Given the description of an element on the screen output the (x, y) to click on. 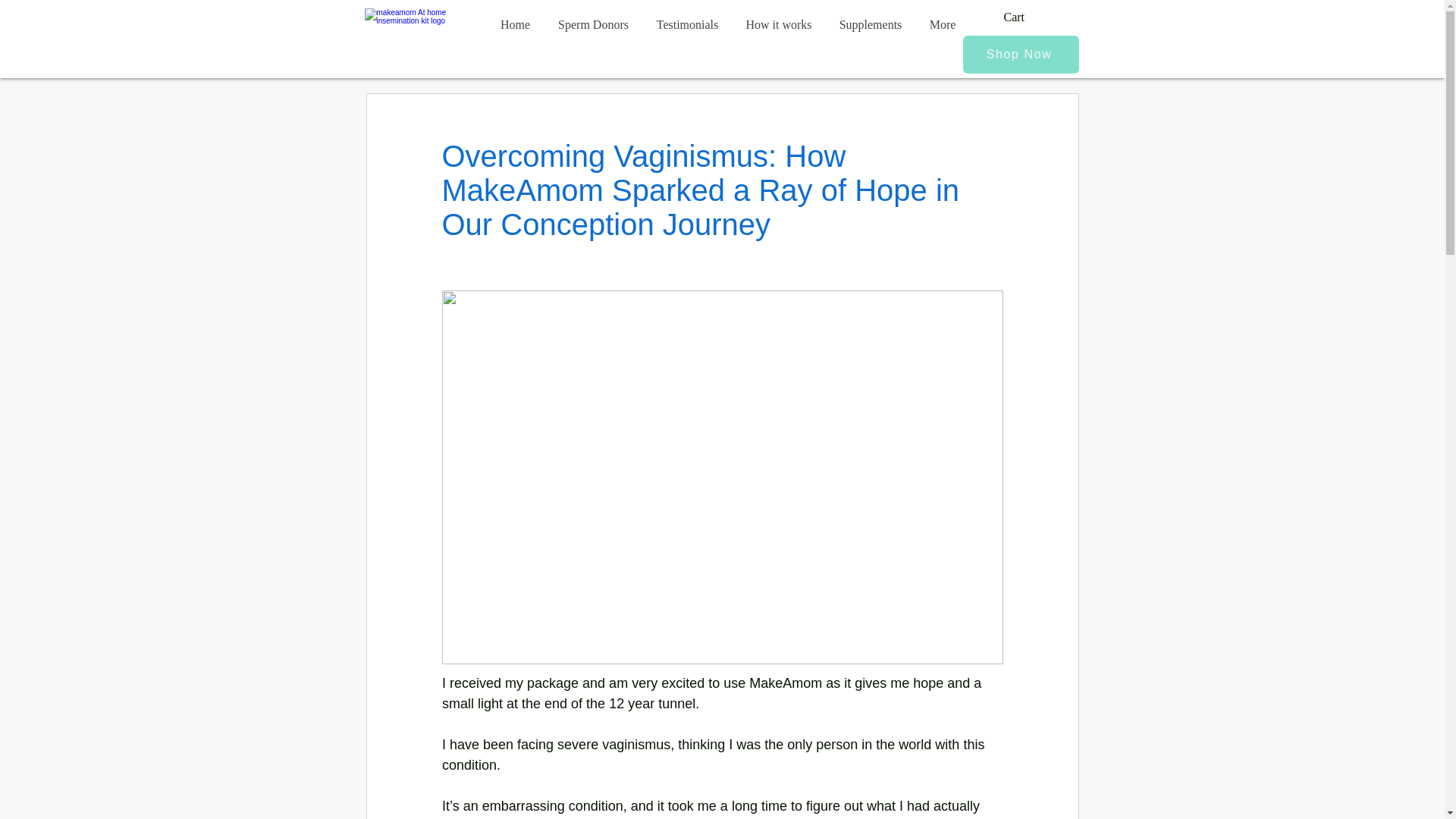
Shop Now (1020, 54)
Sperm Donors (593, 24)
Home (515, 24)
Testimonials (687, 24)
Cart (1014, 16)
Supplements (870, 24)
How it works (778, 24)
